Given the description of an element on the screen output the (x, y) to click on. 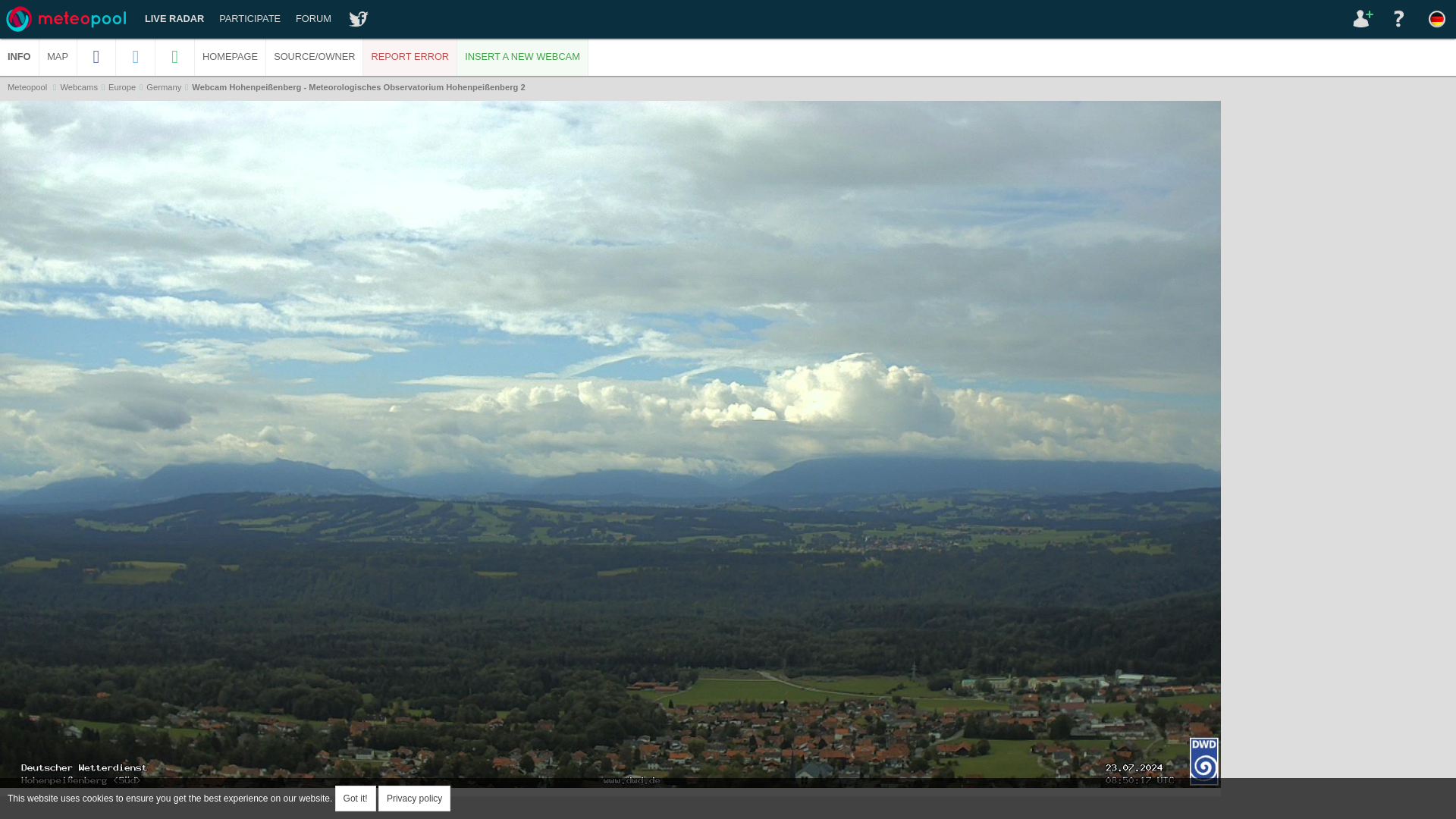
Report issues of the webcam (409, 56)
FORUM (313, 18)
Share on Facebook (96, 56)
MAP (58, 56)
Visit webcam page (230, 56)
Meteopool (26, 86)
LIVE RADAR (173, 18)
log in (1361, 18)
INFO (19, 56)
Display extended information about webcam (19, 56)
Share within WhatsApp (175, 56)
PARTICIPATE (249, 18)
